Given the description of an element on the screen output the (x, y) to click on. 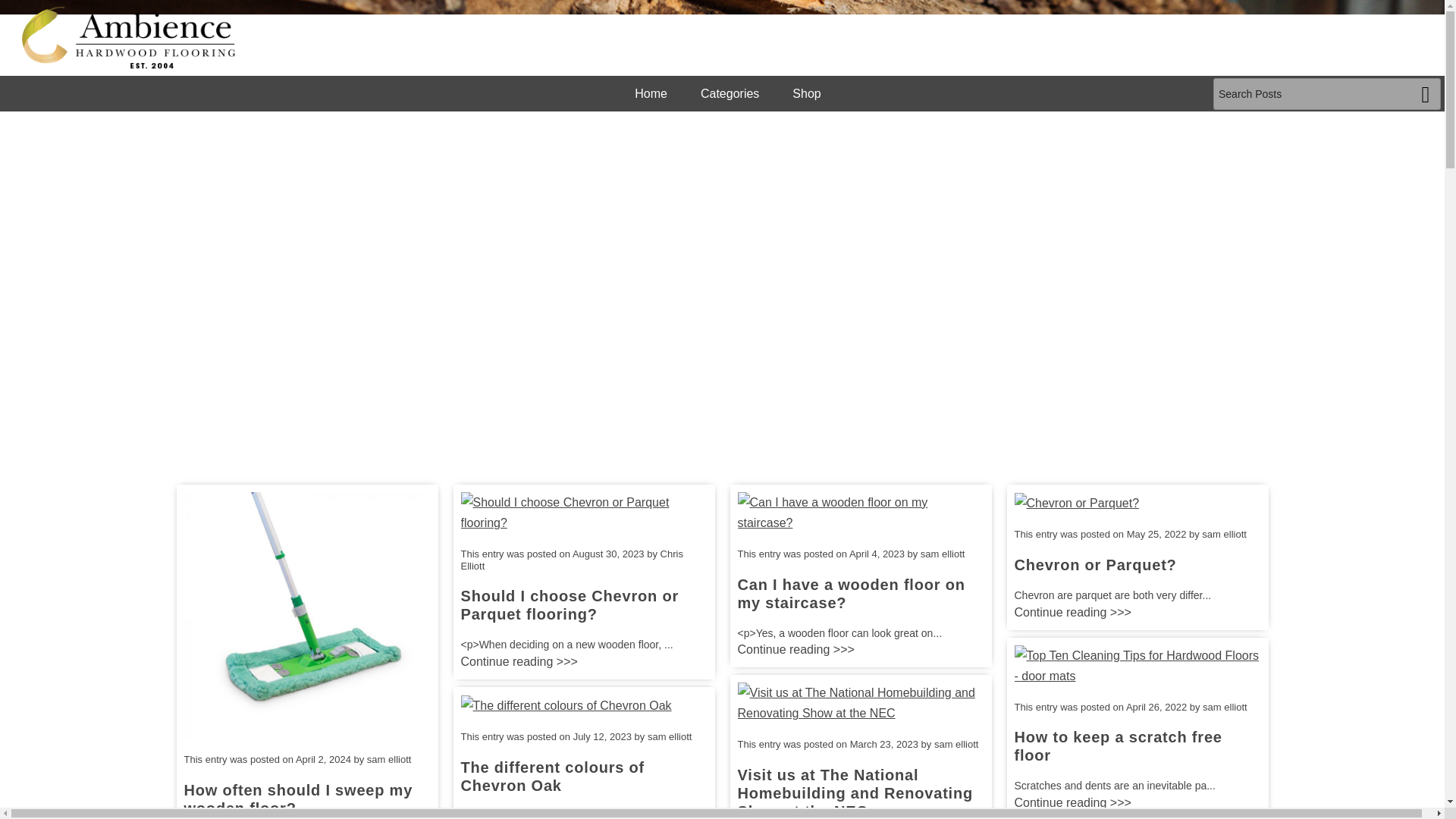
How often should I sweep my wooden floor? (297, 799)
Shop (806, 93)
How often should I sweep my wooden floor? (306, 614)
Home (651, 93)
Ambience Hardwood Flooring (128, 37)
Categories (729, 93)
How often should I sweep my wooden floor? (297, 799)
Search (1425, 93)
